Given the description of an element on the screen output the (x, y) to click on. 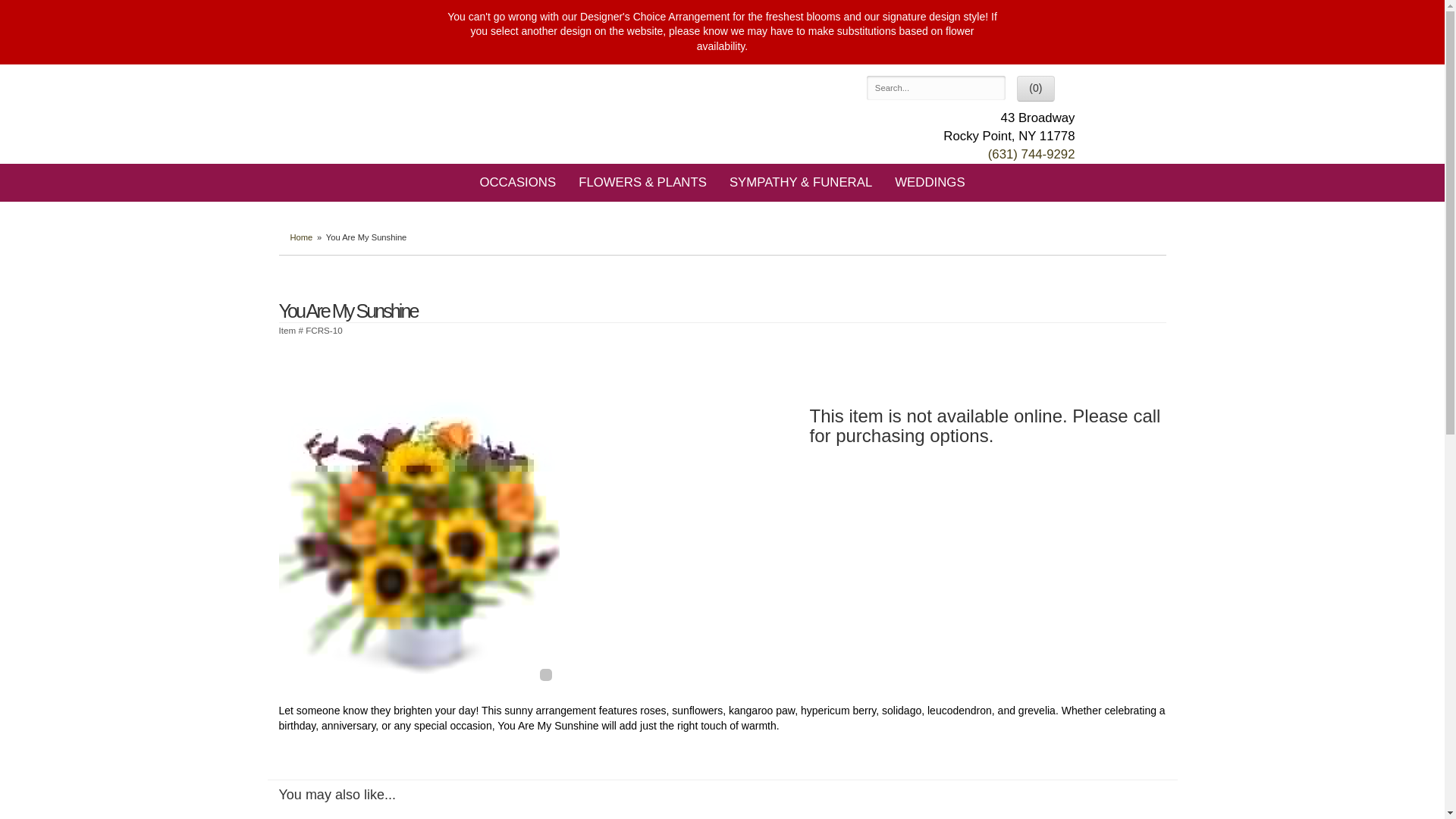
WEDDINGS (929, 182)
OCCASIONS (517, 182)
Flowers on Broadway (509, 107)
Home (301, 236)
